Given the description of an element on the screen output the (x, y) to click on. 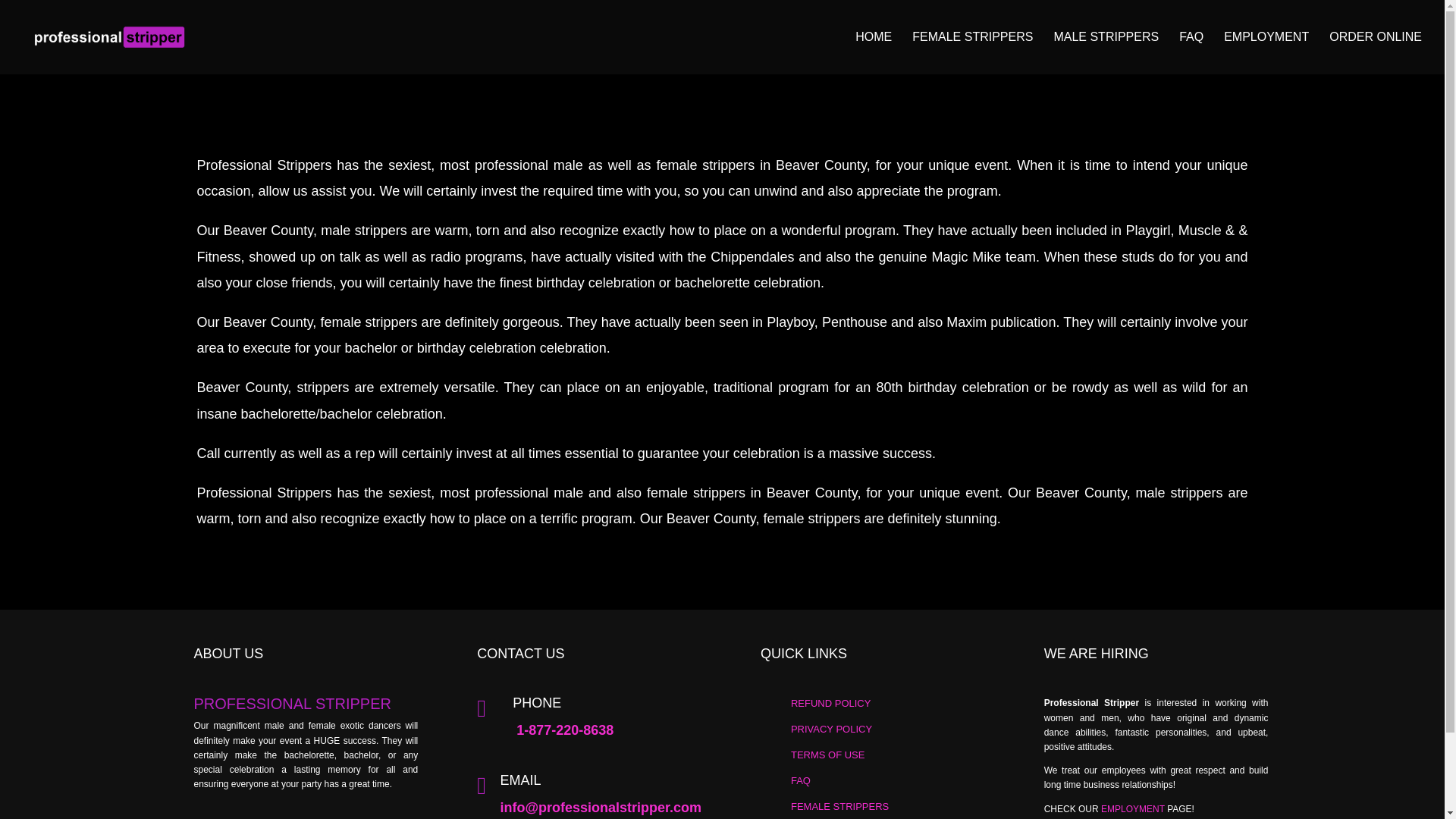
MALE STRIPPERS (1105, 52)
PRIVACY POLICY (831, 728)
ORDER ONLINE (1375, 52)
EMPLOYMENT (1266, 52)
EMPLOYMENT (1132, 808)
1-877-220-8638 (564, 729)
FAQ (800, 780)
FEMALE STRIPPERS (972, 52)
REFUND POLICY (830, 703)
FEMALE STRIPPERS (839, 806)
